Given the description of an element on the screen output the (x, y) to click on. 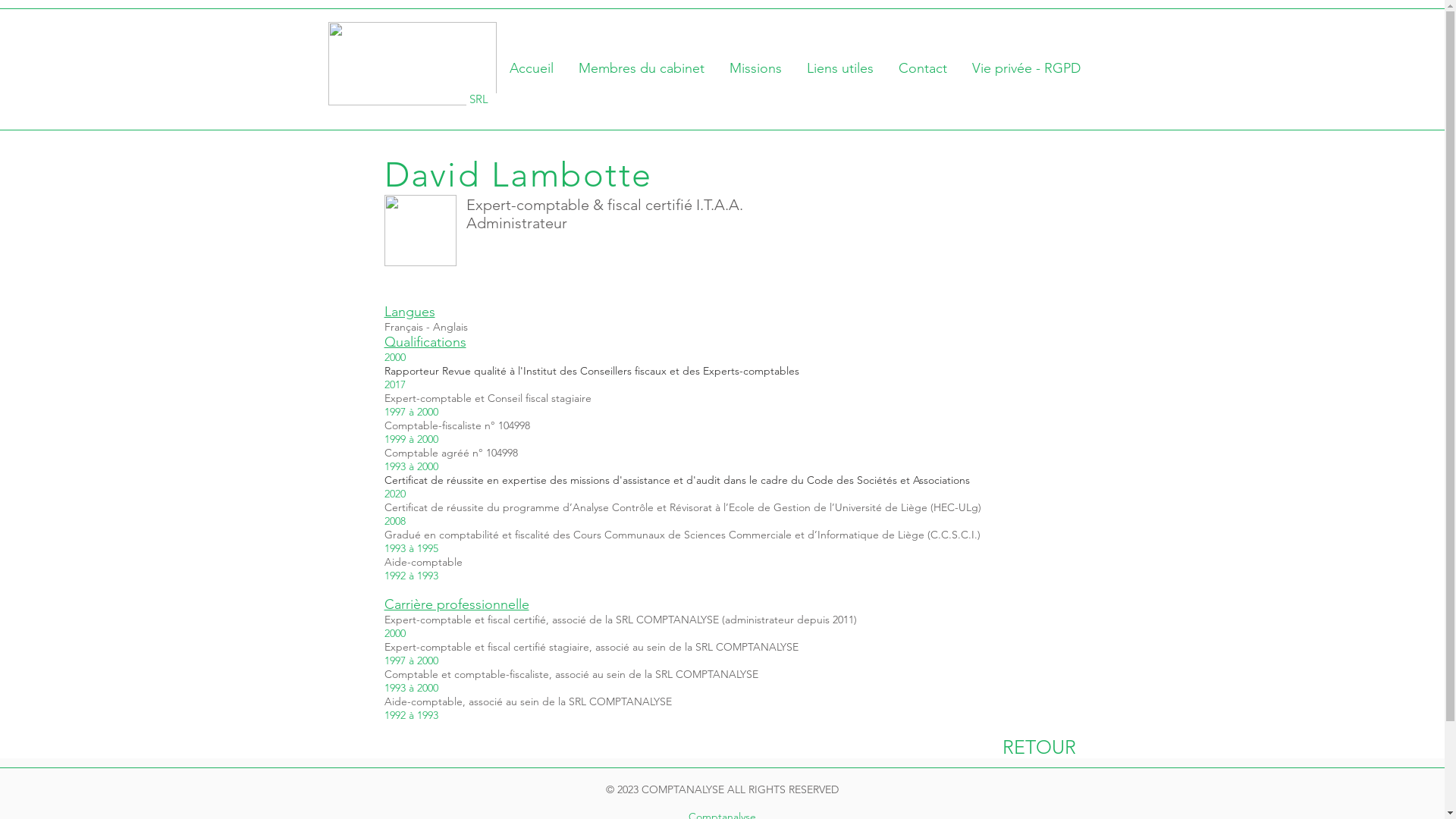
Accueil Element type: text (530, 68)
RETOUR Element type: text (1039, 746)
Membres du cabinet Element type: text (640, 68)
Contact Element type: text (922, 68)
Missions Element type: text (755, 68)
Liens utiles Element type: text (840, 68)
